Given the description of an element on the screen output the (x, y) to click on. 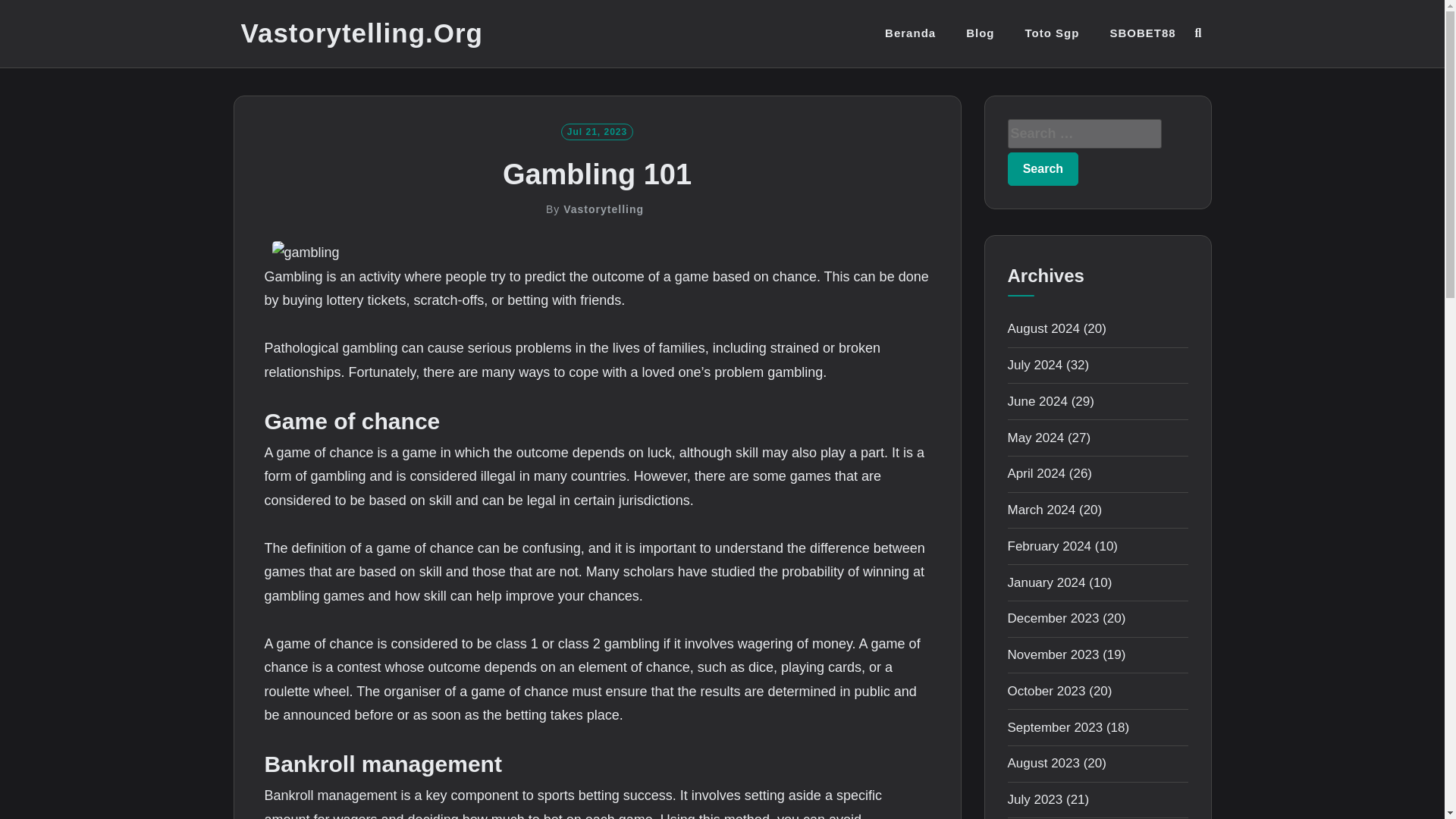
Vastorytelling.Org (362, 33)
November 2023 (1053, 654)
October 2023 (1045, 690)
Jul 21, 2023 (596, 130)
December 2023 (1053, 617)
Search (1042, 168)
March 2024 (1041, 509)
August 2024 (1042, 328)
July 2023 (1034, 799)
Vastorytelling (603, 209)
